Given the description of an element on the screen output the (x, y) to click on. 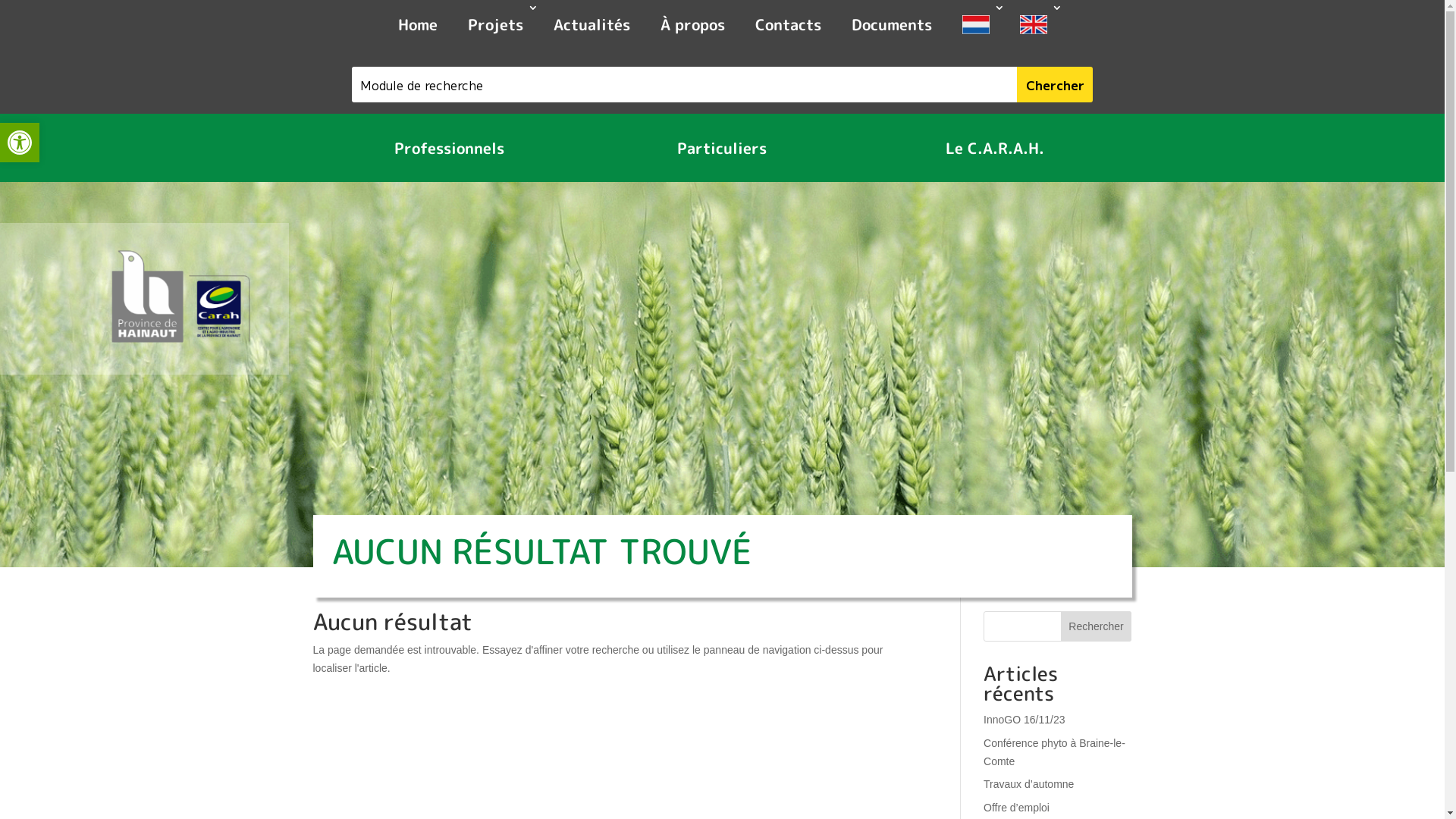
InnoGO 16/11/23 Element type: text (1023, 719)
Projets Element type: text (494, 26)
Professionnels Element type: text (449, 147)
Skip to content Element type: text (0, 0)
Le C.A.R.A.H. Element type: text (994, 147)
Documents Element type: text (890, 26)
Particuliers Element type: text (721, 147)
Contacts Element type: text (788, 26)
Chercher Element type: text (1054, 84)
Home Element type: text (416, 26)
Rechercher Element type: text (1096, 626)
